Given the description of an element on the screen output the (x, y) to click on. 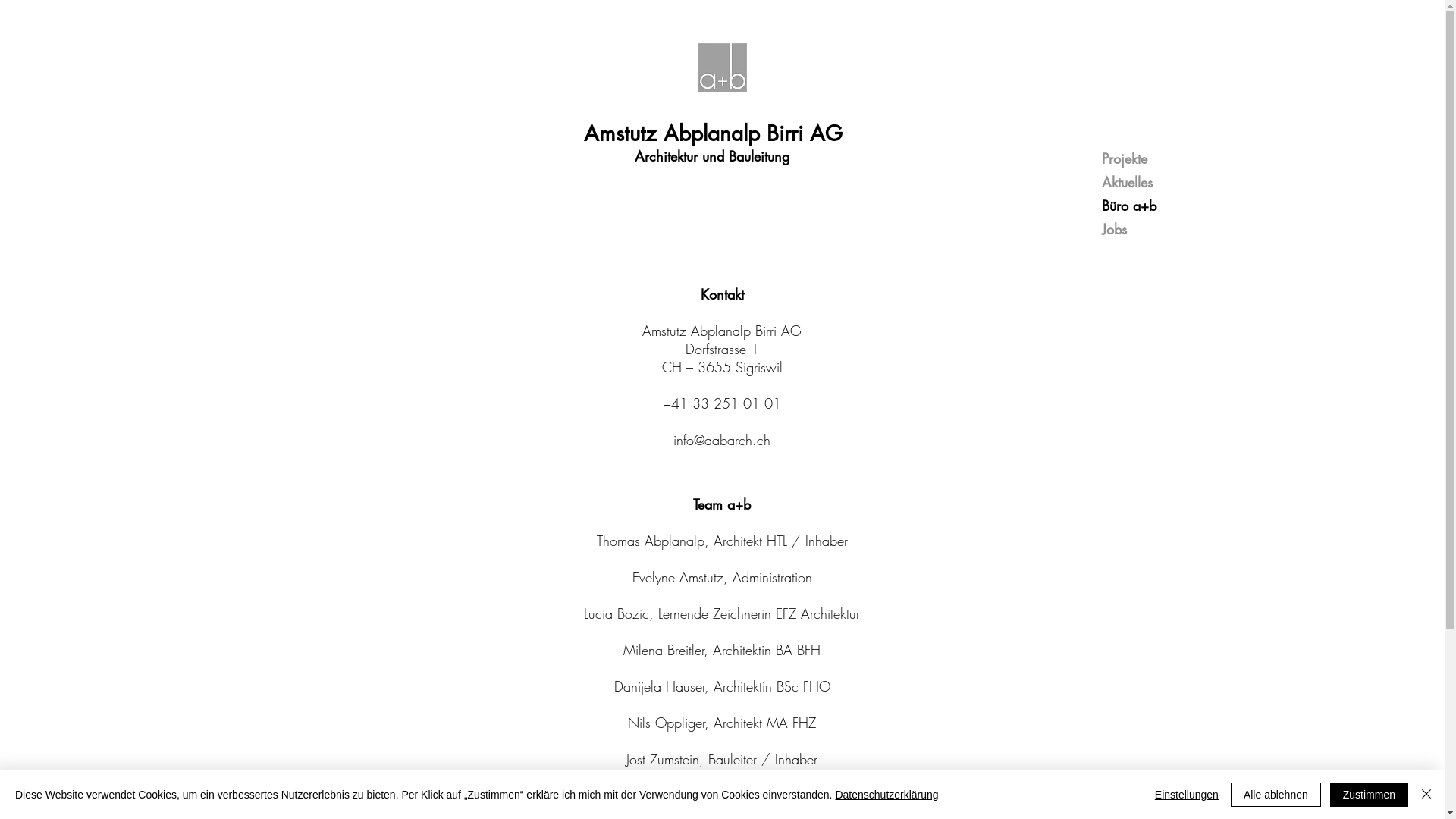
Jobs Element type: text (1178, 229)
+41 33 251 01 01 Element type: text (721, 403)
logo_ab_grey.jpg Element type: hover (721, 67)
info@aabarch.ch Element type: text (721, 439)
Zustimmen Element type: text (1369, 794)
Alle ablehnen Element type: text (1275, 794)
Projekte Element type: text (1178, 158)
Aktuelles Element type: text (1178, 182)
